Given the description of an element on the screen output the (x, y) to click on. 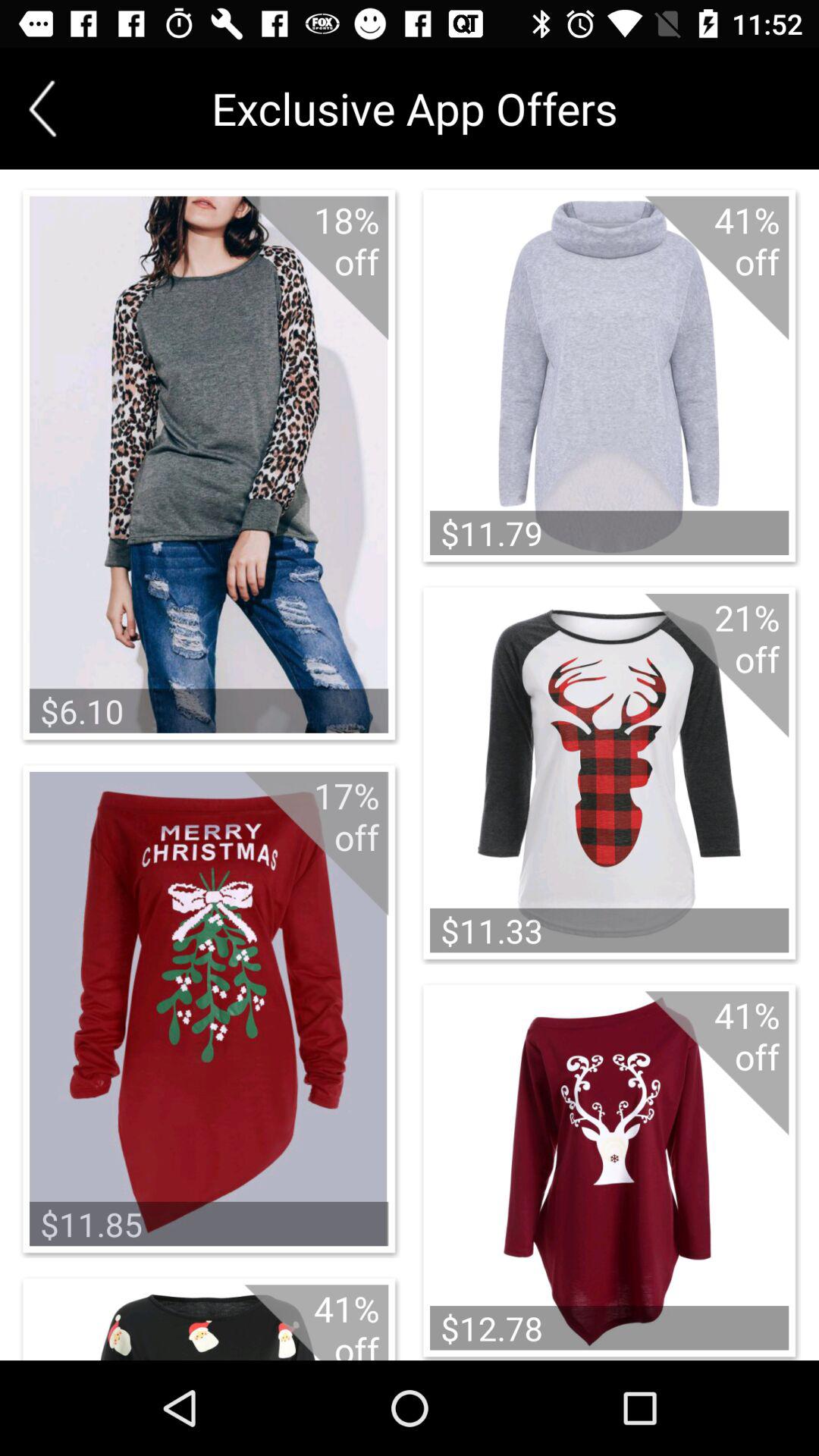
turn off icon next to the exclusive app offers (42, 108)
